Given the description of an element on the screen output the (x, y) to click on. 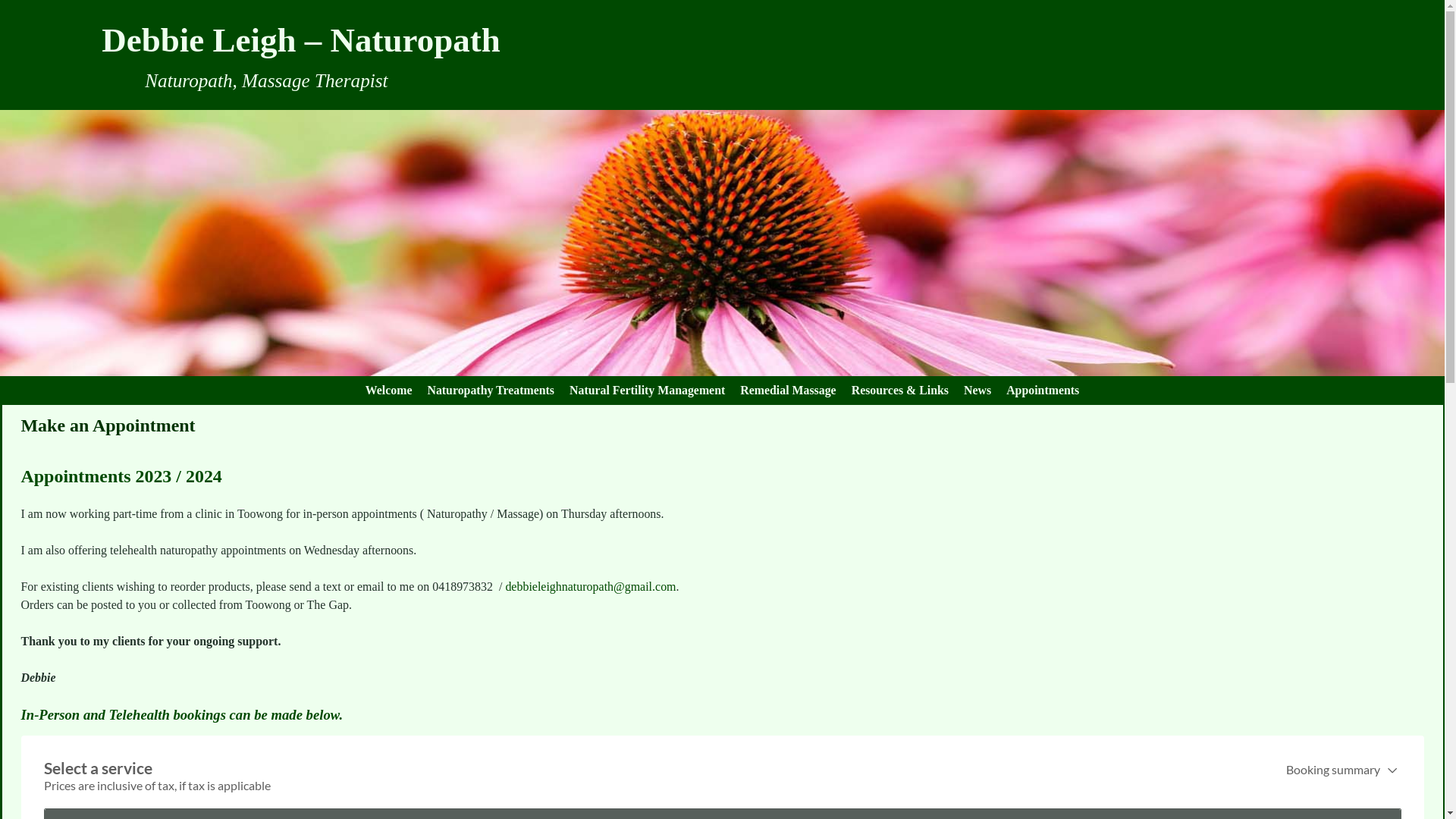
Naturopathy Treatments Element type: text (490, 390)
Appointments Element type: text (1042, 390)
Remedial Massage Element type: text (787, 390)
Resources & Links Element type: text (900, 390)
Welcome Element type: text (388, 390)
debbieleighnaturopath@gmail.com Element type: text (590, 586)
News Element type: text (977, 390)
Natural Fertility Management Element type: text (646, 390)
Skip to secondary content Element type: text (47, 382)
Skip to primary content Element type: text (43, 382)
